Given the description of an element on the screen output the (x, y) to click on. 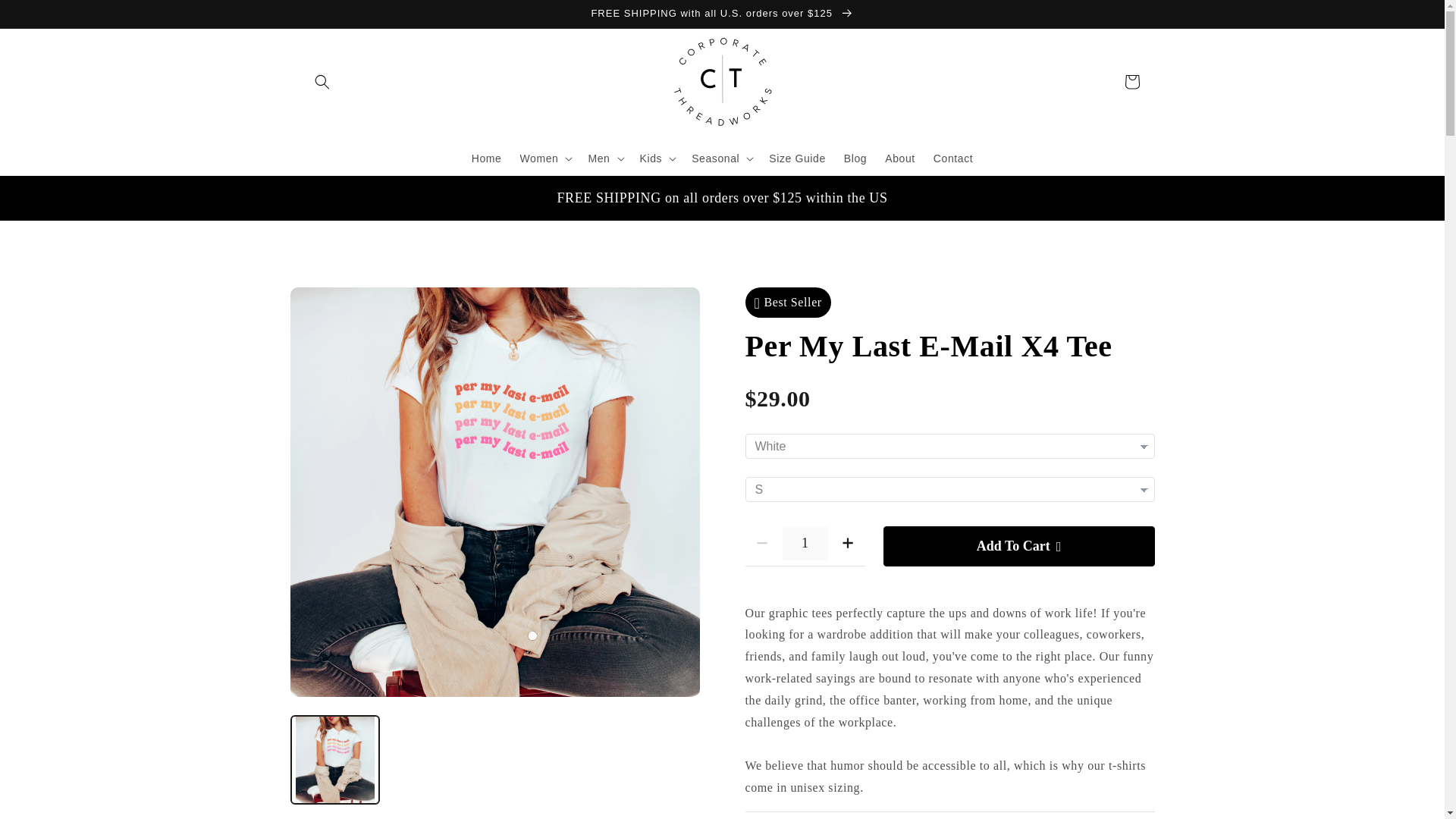
1 (805, 543)
Blog (855, 158)
Cart (1131, 81)
Contact (952, 158)
Size Guide (797, 158)
Skip to content (45, 17)
Home (487, 158)
About (900, 158)
